Given the description of an element on the screen output the (x, y) to click on. 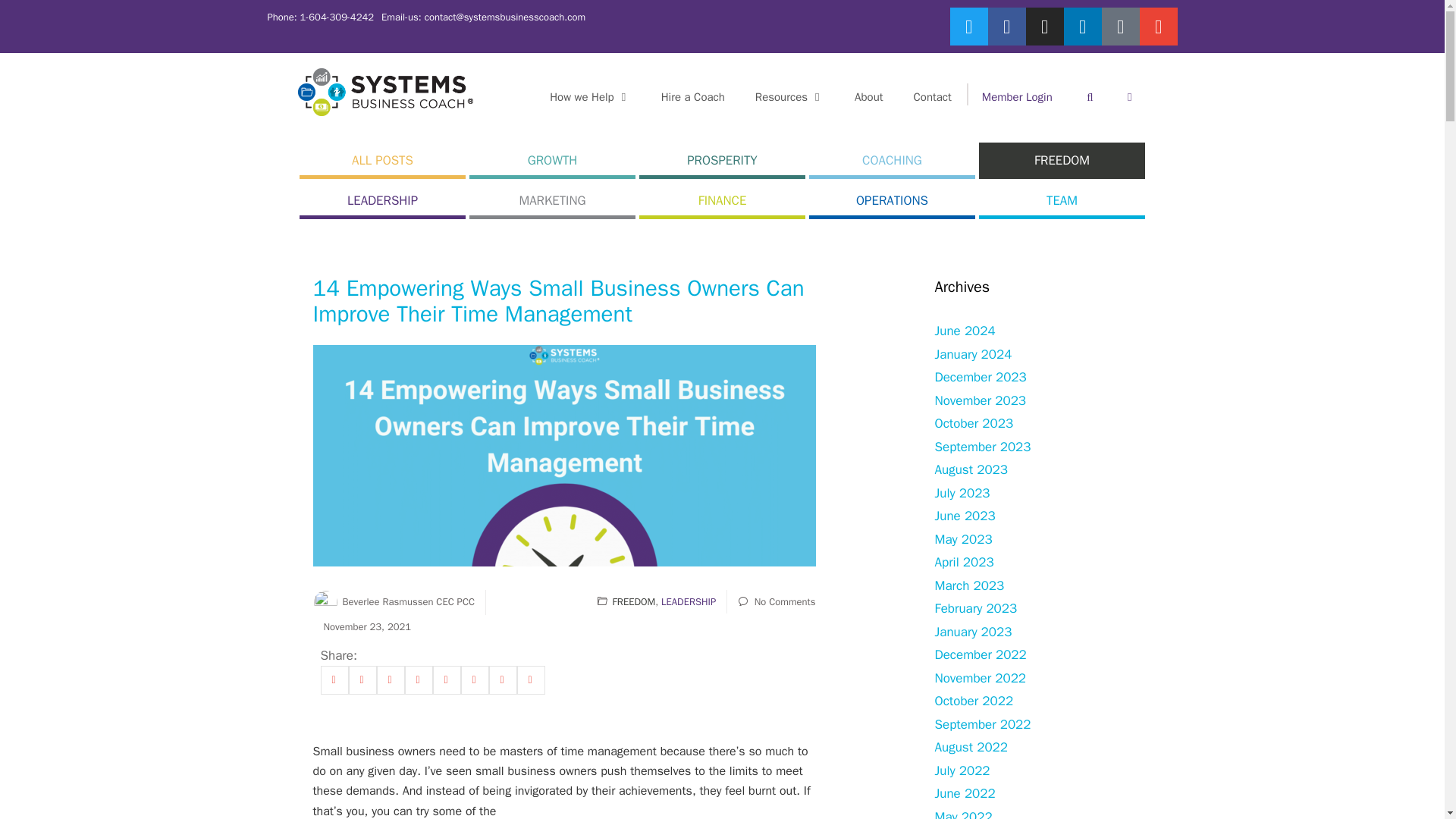
Member Login (1016, 96)
Contact (932, 96)
Hire a Coach (692, 96)
Resources (789, 96)
1-604-309-4242 (335, 16)
How we Help (589, 96)
About (869, 96)
